Given the description of an element on the screen output the (x, y) to click on. 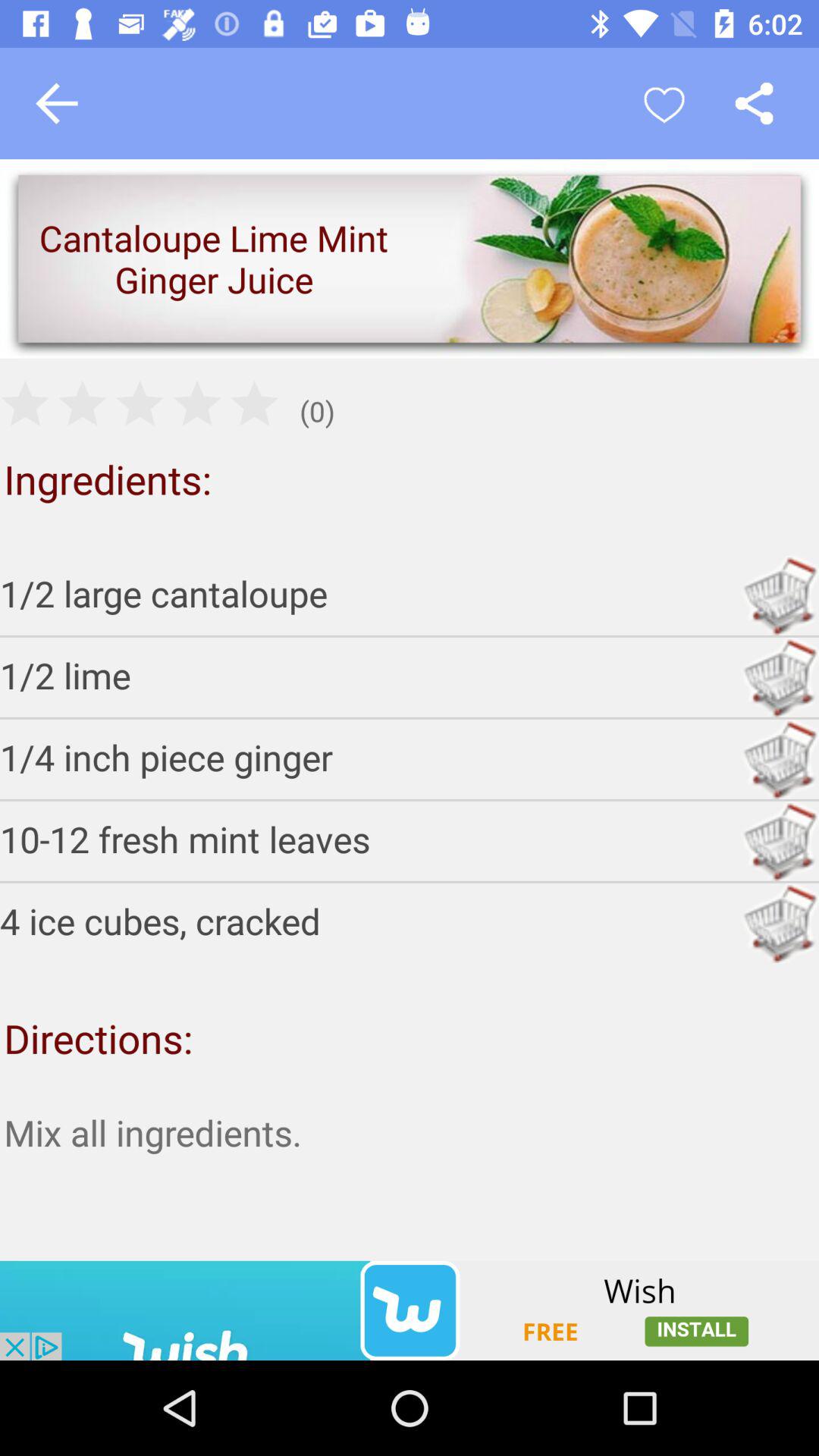
go back (56, 103)
